Given the description of an element on the screen output the (x, y) to click on. 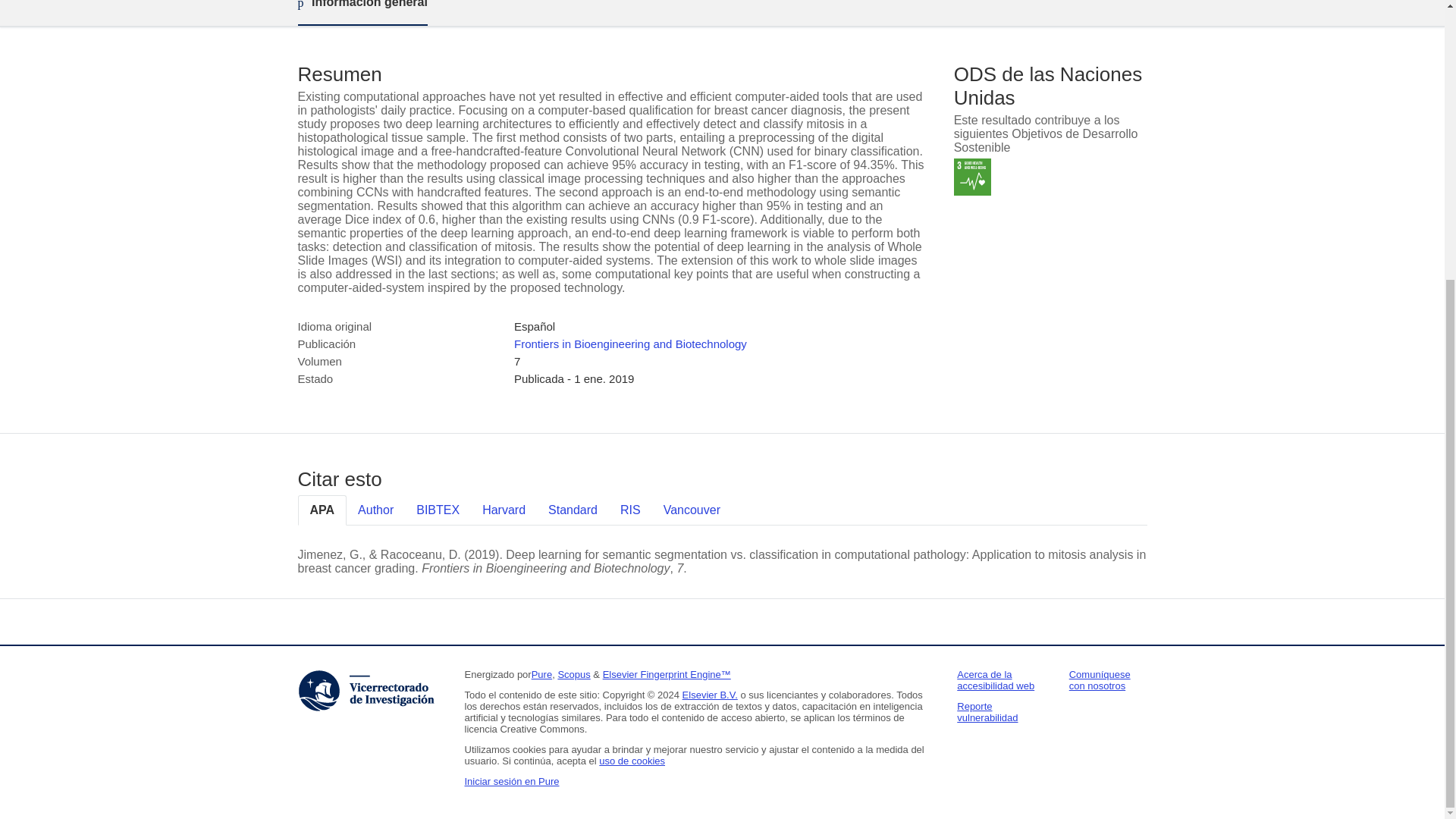
uso de cookies (631, 760)
Acerca de la accesibilidad web (994, 680)
Pure (541, 674)
Elsevier B.V. (710, 695)
Scopus (573, 674)
Reporte vulnerabilidad (986, 712)
Frontiers in Bioengineering and Biotechnology (629, 343)
